Given the description of an element on the screen output the (x, y) to click on. 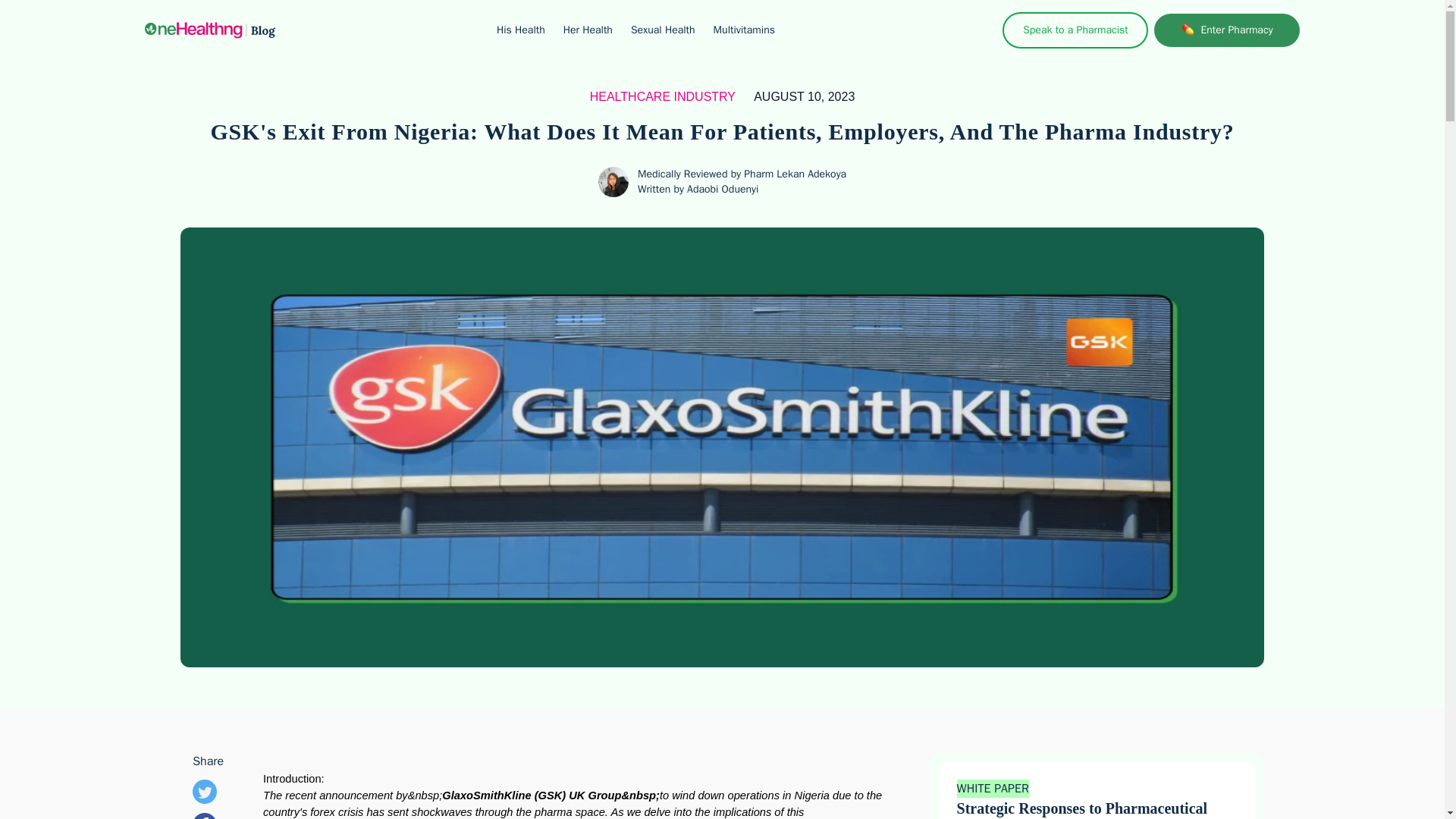
Enter Pharmacy (1227, 29)
Her Health (587, 29)
His Health (520, 29)
Multivitamins (743, 29)
WHITE PAPER (992, 788)
Sexual Health (662, 29)
Speak to a Pharmacist (1075, 30)
